Given the description of an element on the screen output the (x, y) to click on. 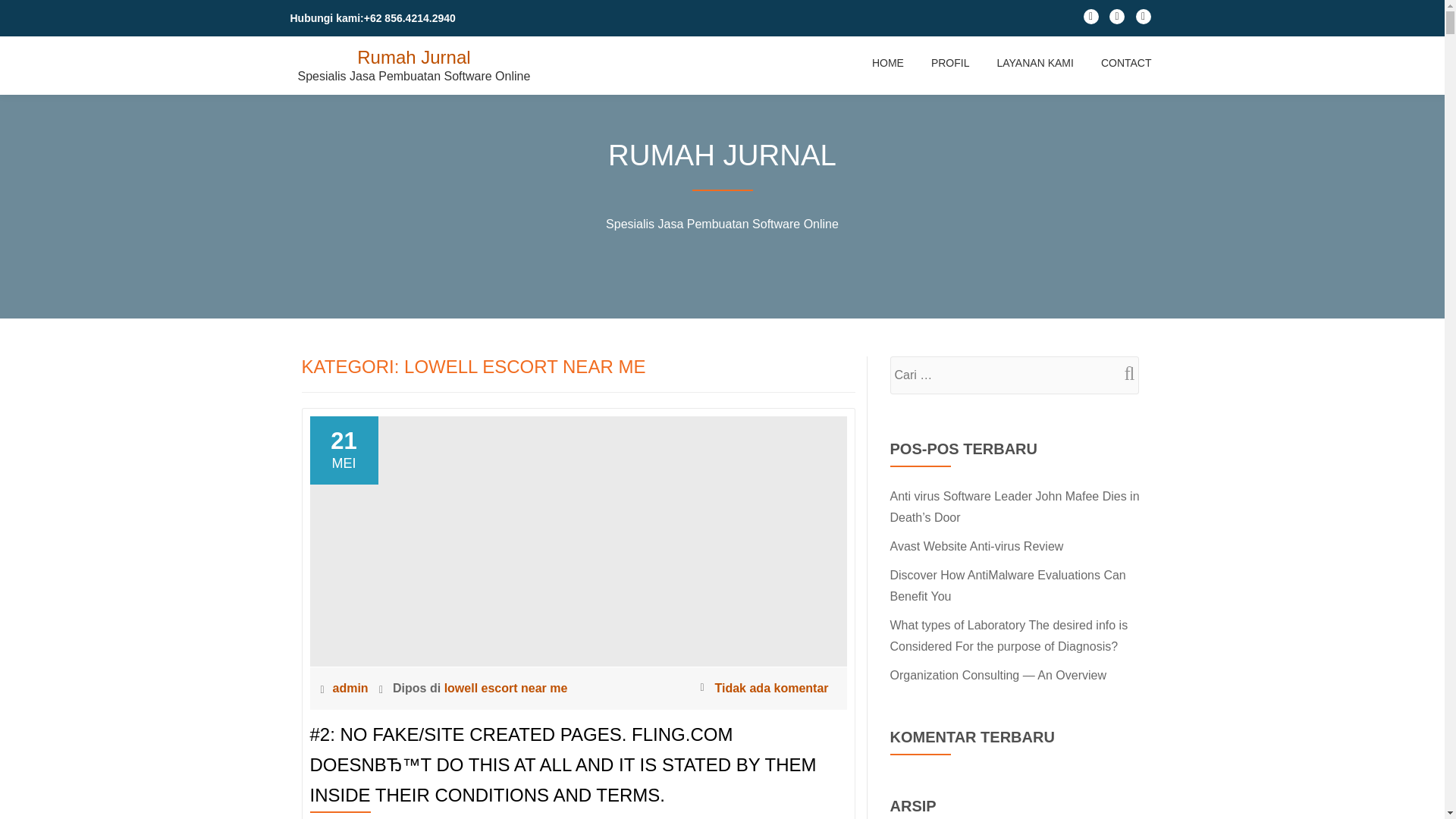
fa-google-plus-square (1143, 19)
Avast Website Anti-virus Review (976, 545)
LAYANAN KAMI (1034, 62)
Rumah Jurnal (413, 56)
Cari (1122, 372)
CONTACT (1125, 62)
Cari (1122, 372)
HOME (888, 62)
fa-whatsapp 085642142940 (1116, 19)
